Given the description of an element on the screen output the (x, y) to click on. 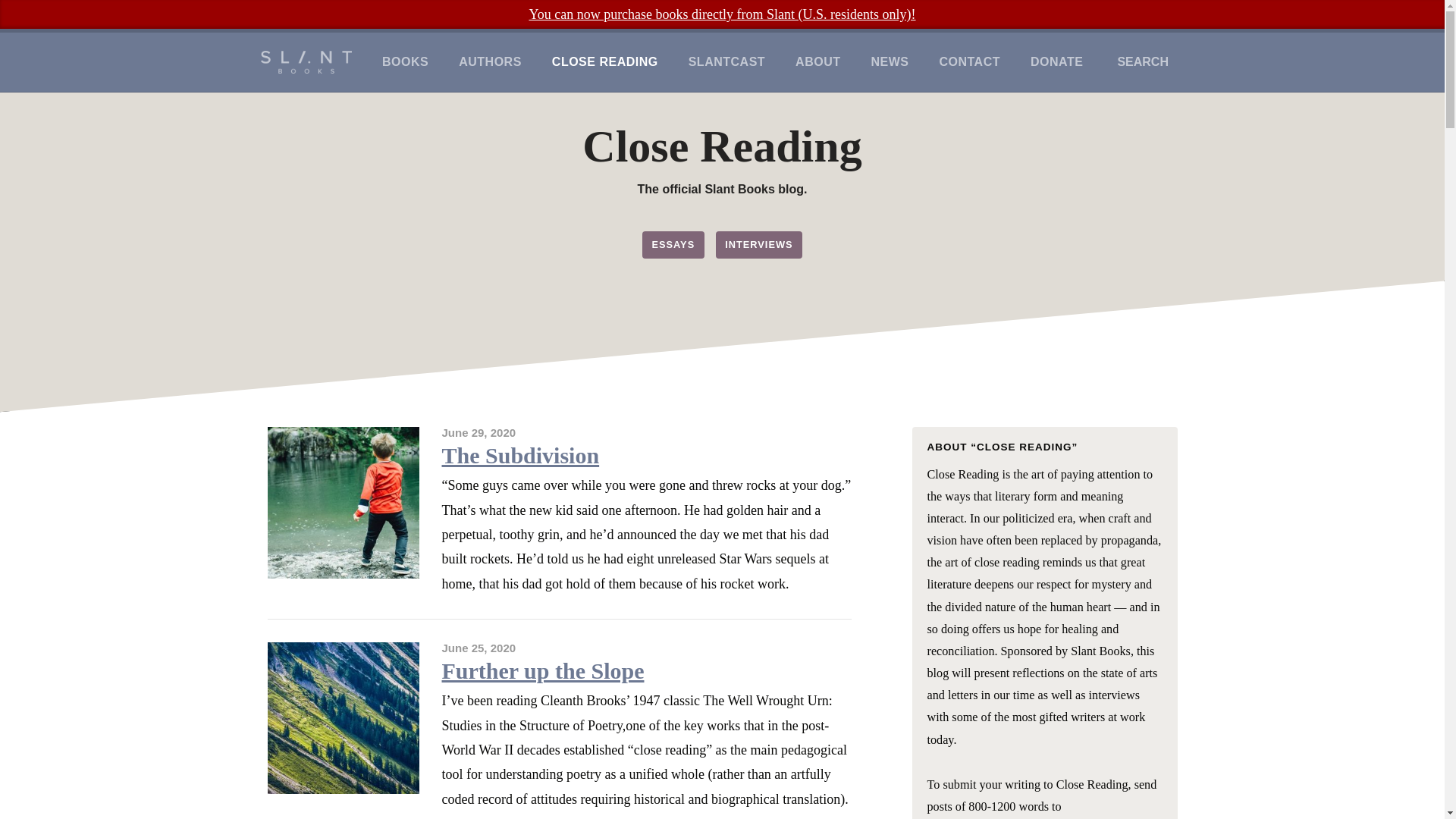
Further up the Slope (542, 670)
INTERVIEWS (759, 244)
CONTACT (968, 62)
Go to the Slant Books homepage (306, 61)
NEWS (889, 62)
SLANTCAST (726, 62)
ESSAYS (673, 244)
CLOSE READING (604, 62)
ABOUT (818, 62)
DONATE (1055, 62)
